Given the description of an element on the screen output the (x, y) to click on. 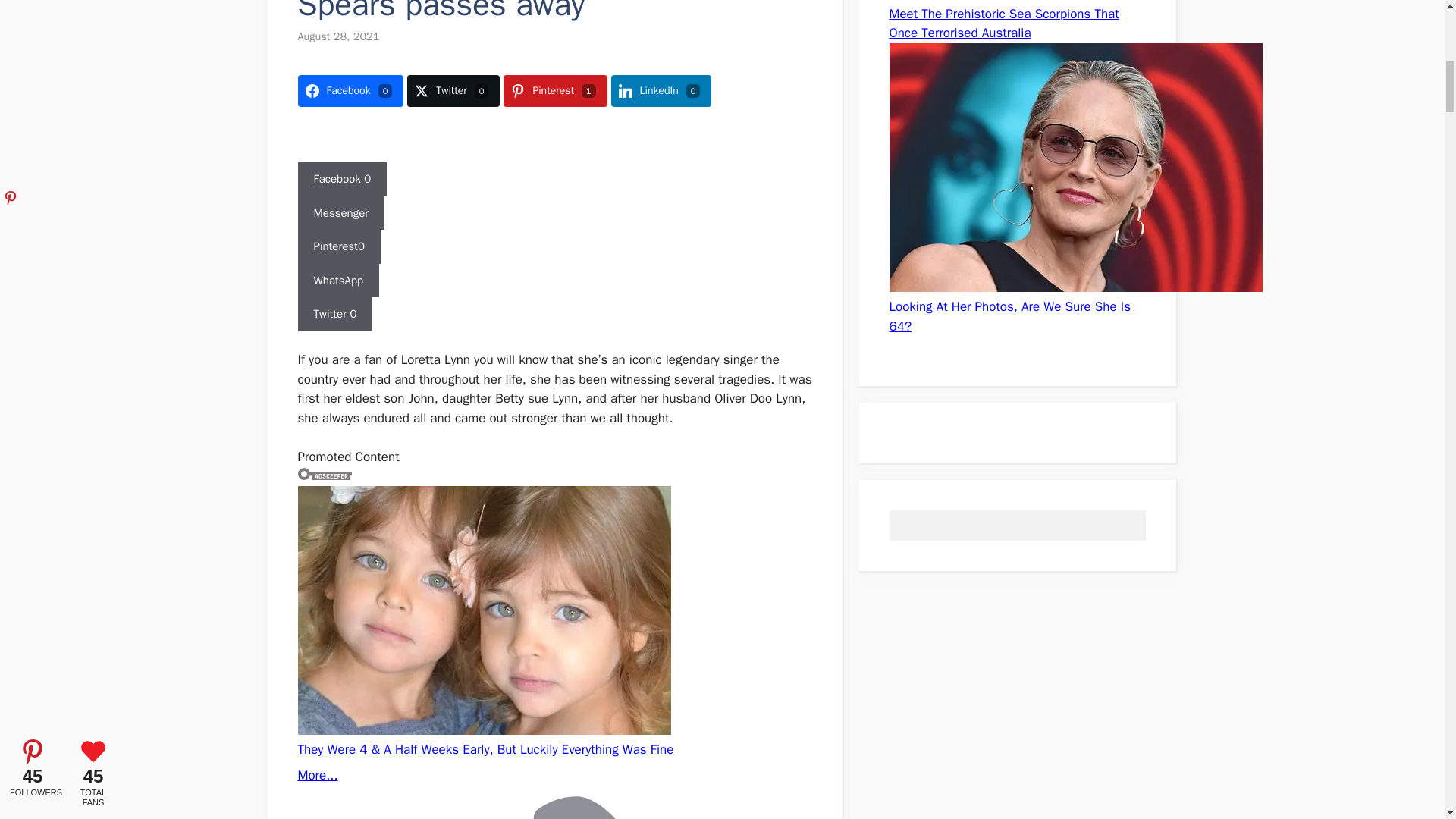
WhatsApp (337, 280)
Share on Pinterest (555, 91)
Share on Facebook (350, 91)
Share on LinkedIn (661, 91)
Facebook 0 (342, 179)
Messenger (340, 213)
Pinterest0 (338, 246)
Twitter 0 (334, 314)
Pinterest1 (555, 91)
Facebook0 (350, 91)
Twitter0 (453, 91)
LinkedIn0 (661, 91)
Share on Twitter (453, 91)
